Given the description of an element on the screen output the (x, y) to click on. 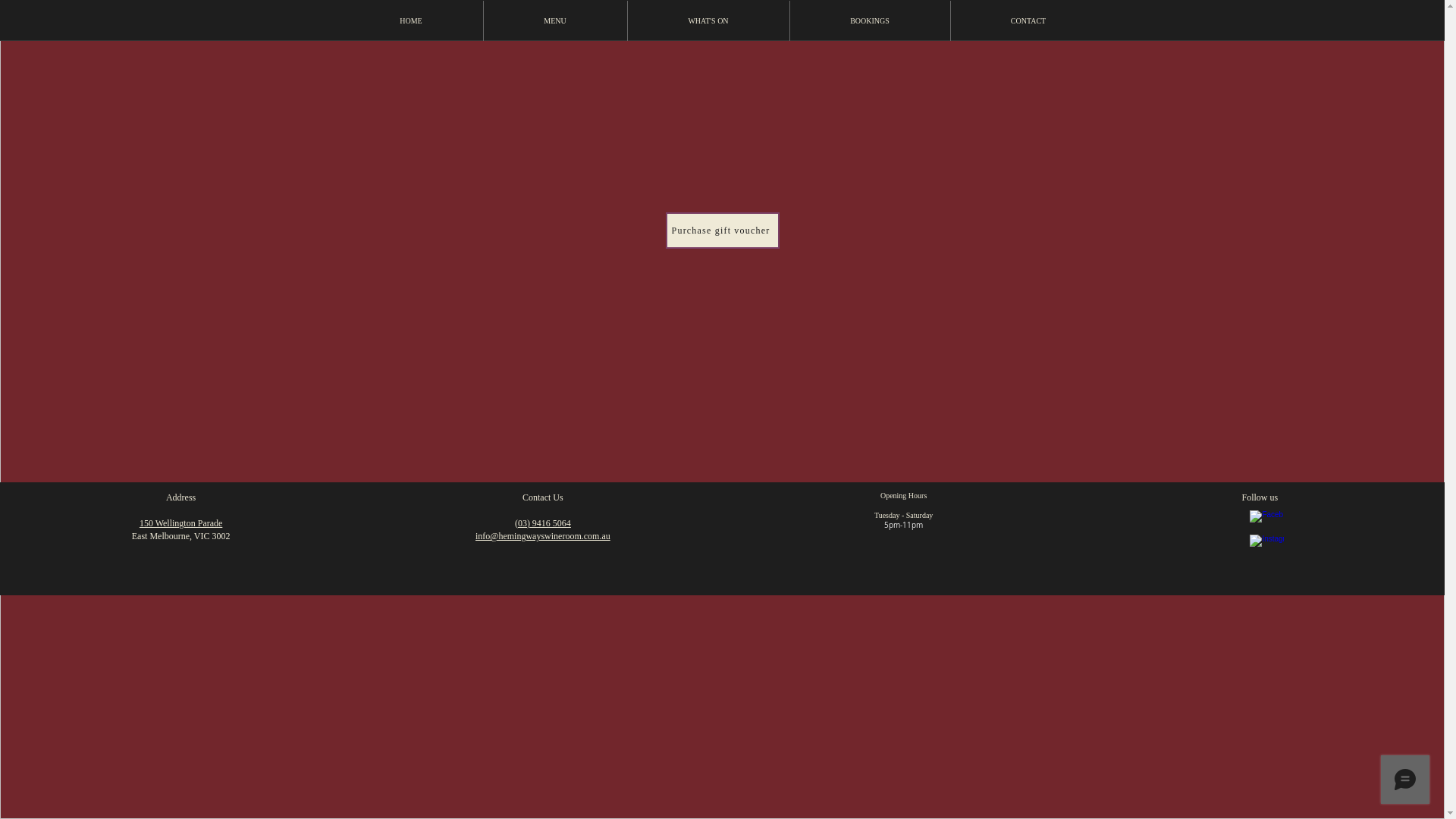
Purchase gift voucher Element type: text (722, 230)
BOOKINGS Element type: text (870, 20)
MENU Element type: text (555, 20)
WHAT'S ON Element type: text (708, 20)
CONTACT Element type: text (1028, 20)
info@hemingwayswineroom.com.au Element type: text (542, 535)
150 Wellington Parade Element type: text (180, 522)
HOME Element type: text (411, 20)
03) 9416 5064 Element type: text (544, 522)
